Given the description of an element on the screen output the (x, y) to click on. 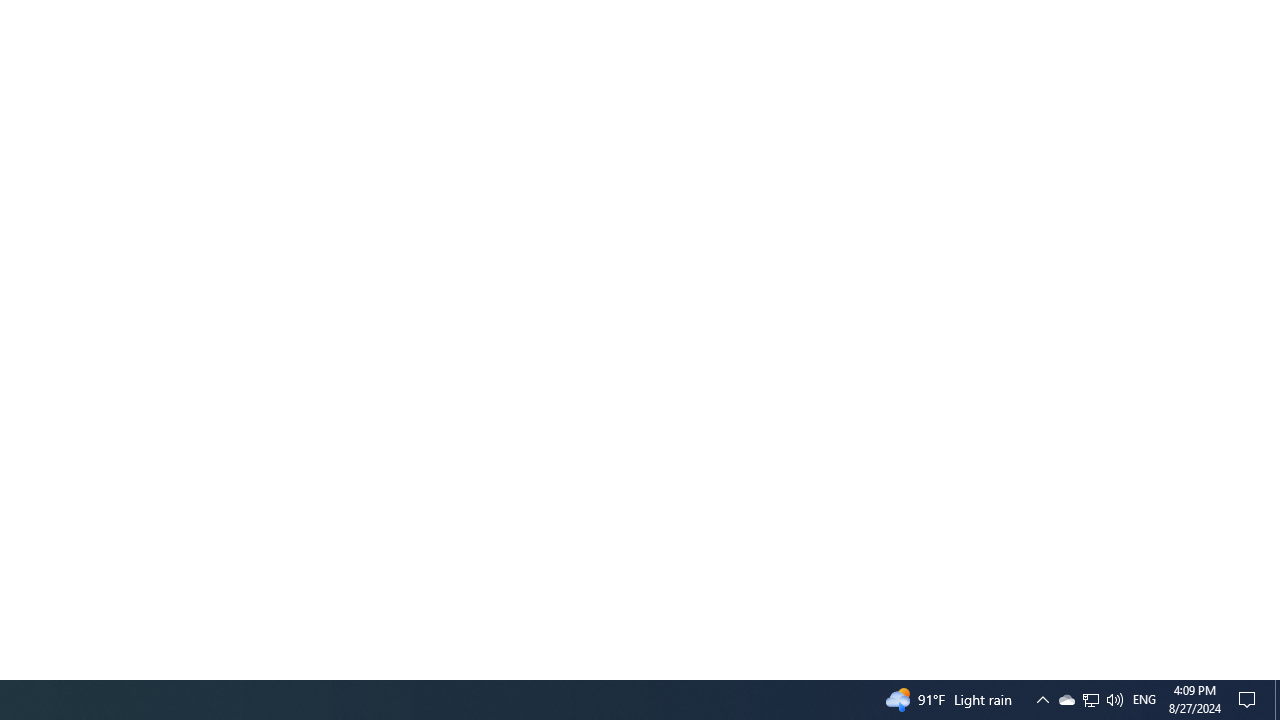
Notification Chevron (1042, 699)
Q2790: 100% (1114, 699)
Show desktop (1066, 699)
Action Center, No new notifications (1277, 699)
Tray Input Indicator - English (United States) (1250, 699)
User Promoted Notification Area (1144, 699)
